Given the description of an element on the screen output the (x, y) to click on. 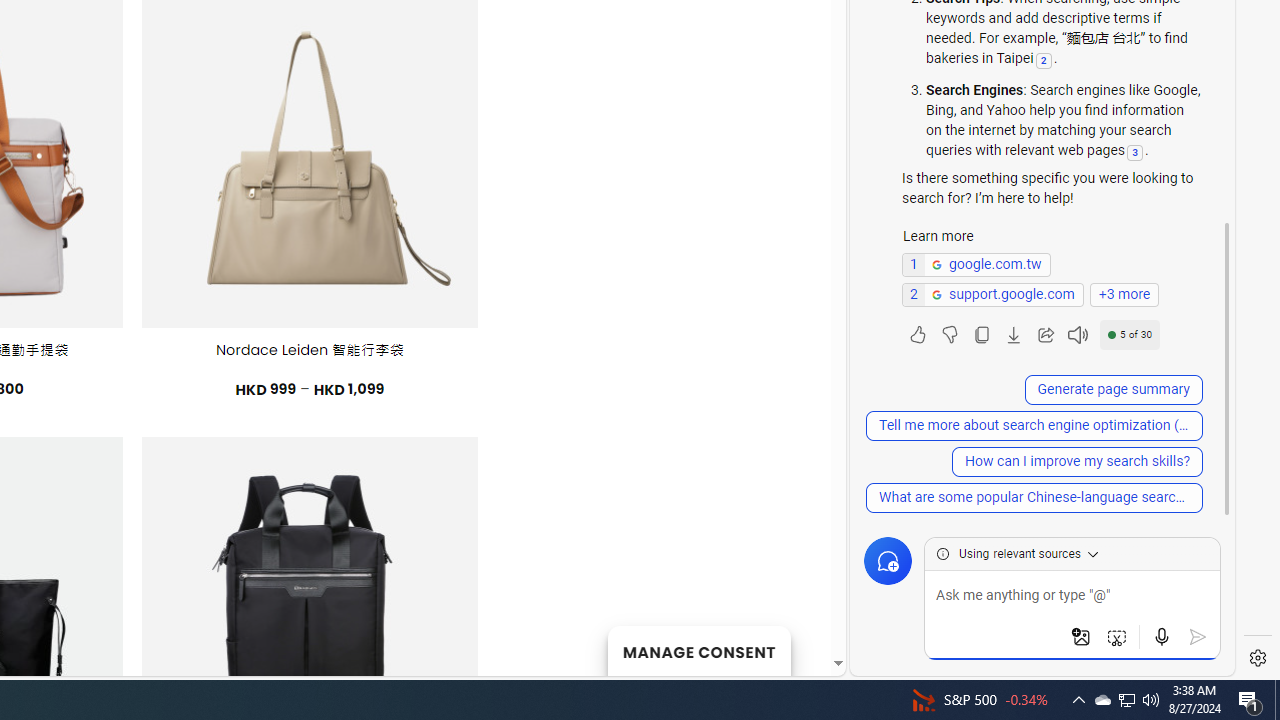
MANAGE CONSENT (698, 650)
